Given the description of an element on the screen output the (x, y) to click on. 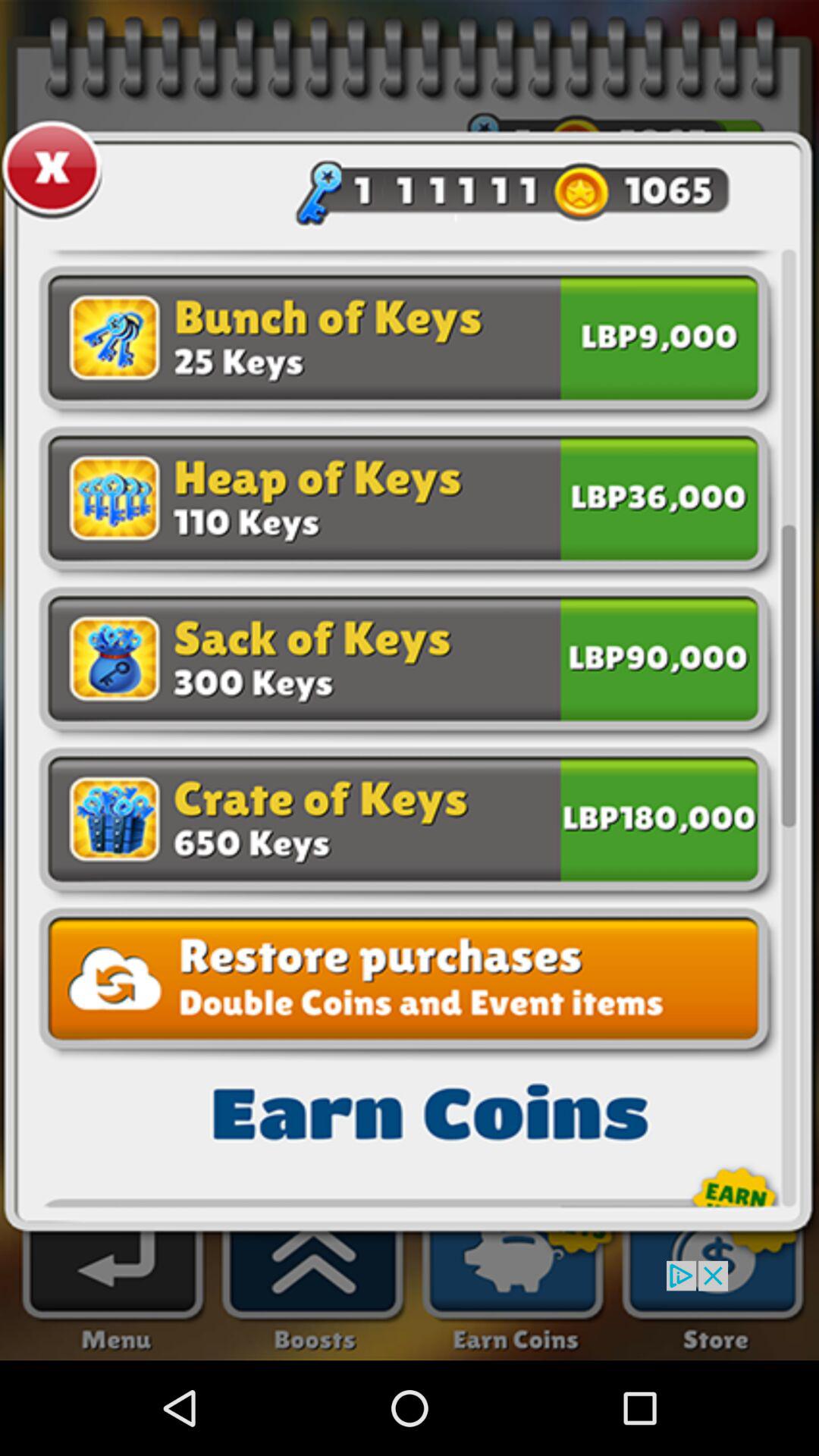
buy item (659, 816)
